Given the description of an element on the screen output the (x, y) to click on. 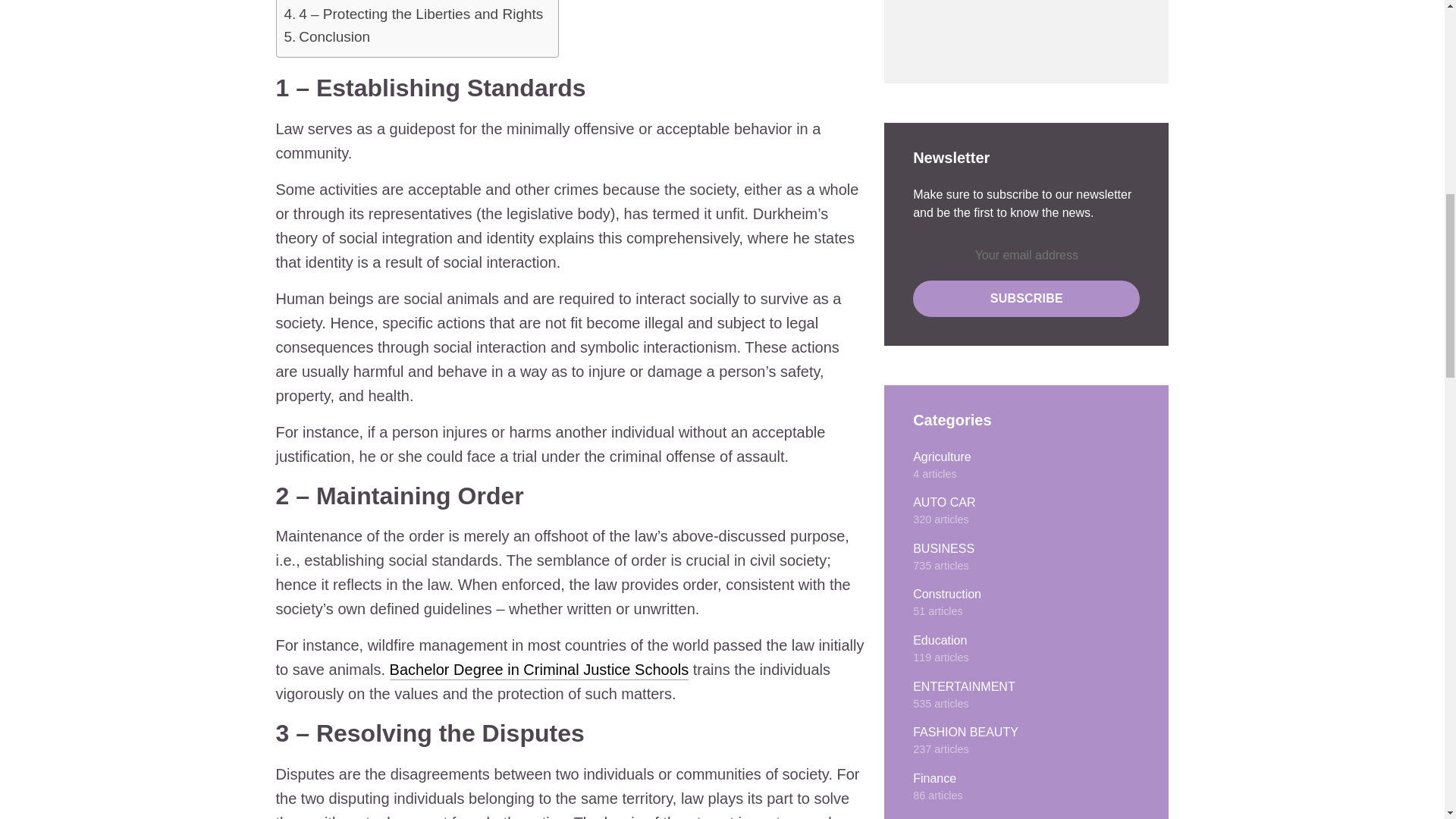
Advertisement (1009, 27)
Subscribe (1026, 298)
Conclusion (333, 36)
